Given the description of an element on the screen output the (x, y) to click on. 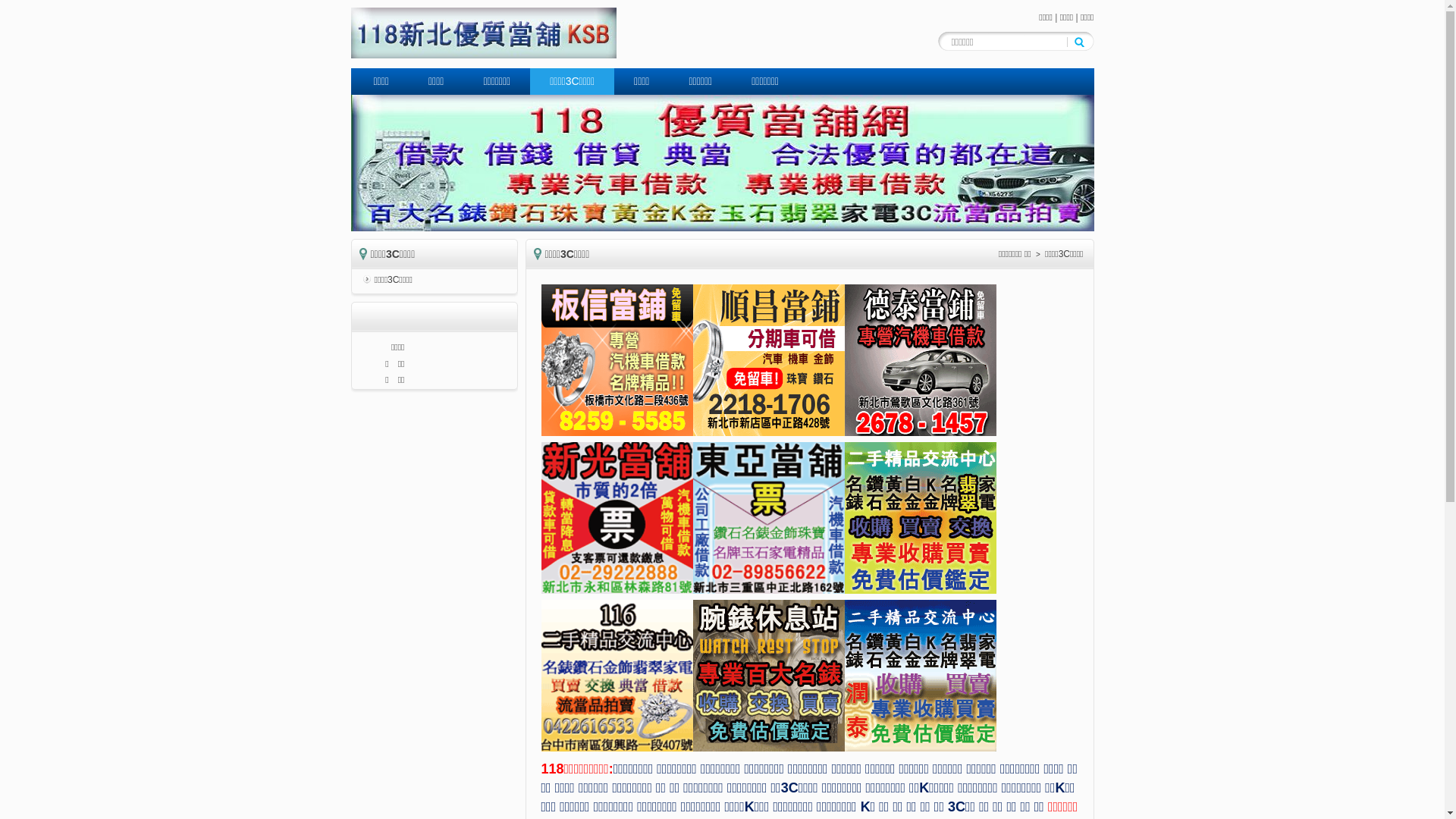
1d70cb6e1ed55c44.gif Element type: hover (617, 517)
f2e13df0efd8bc55.gif Element type: hover (768, 517)
730b2240fc59b318.gif Element type: hover (617, 675)
